Given the description of an element on the screen output the (x, y) to click on. 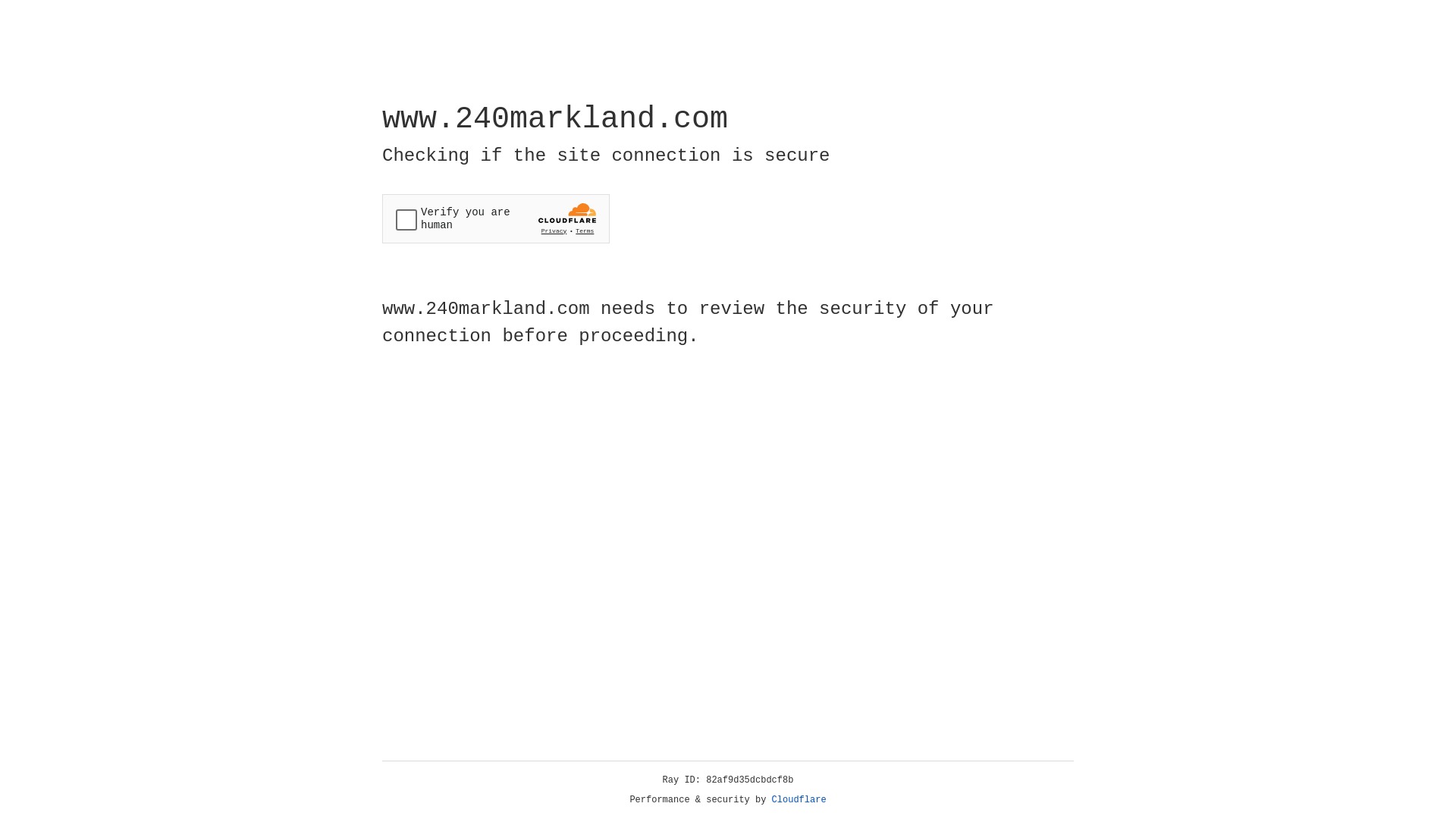
Widget containing a Cloudflare security challenge Element type: hover (495, 218)
Cloudflare Element type: text (798, 799)
